Given the description of an element on the screen output the (x, y) to click on. 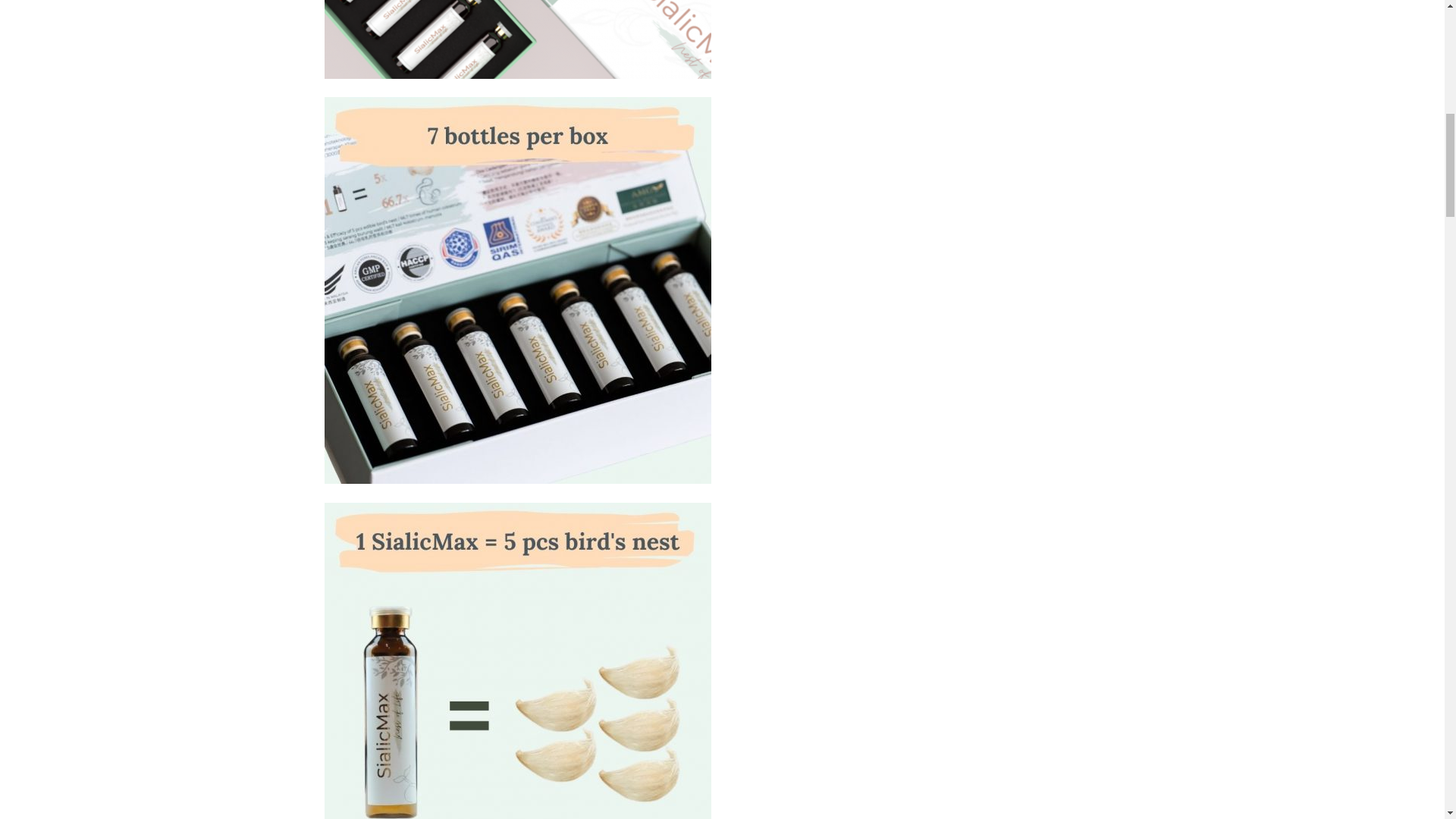
11 (517, 660)
5 (517, 39)
